Given the description of an element on the screen output the (x, y) to click on. 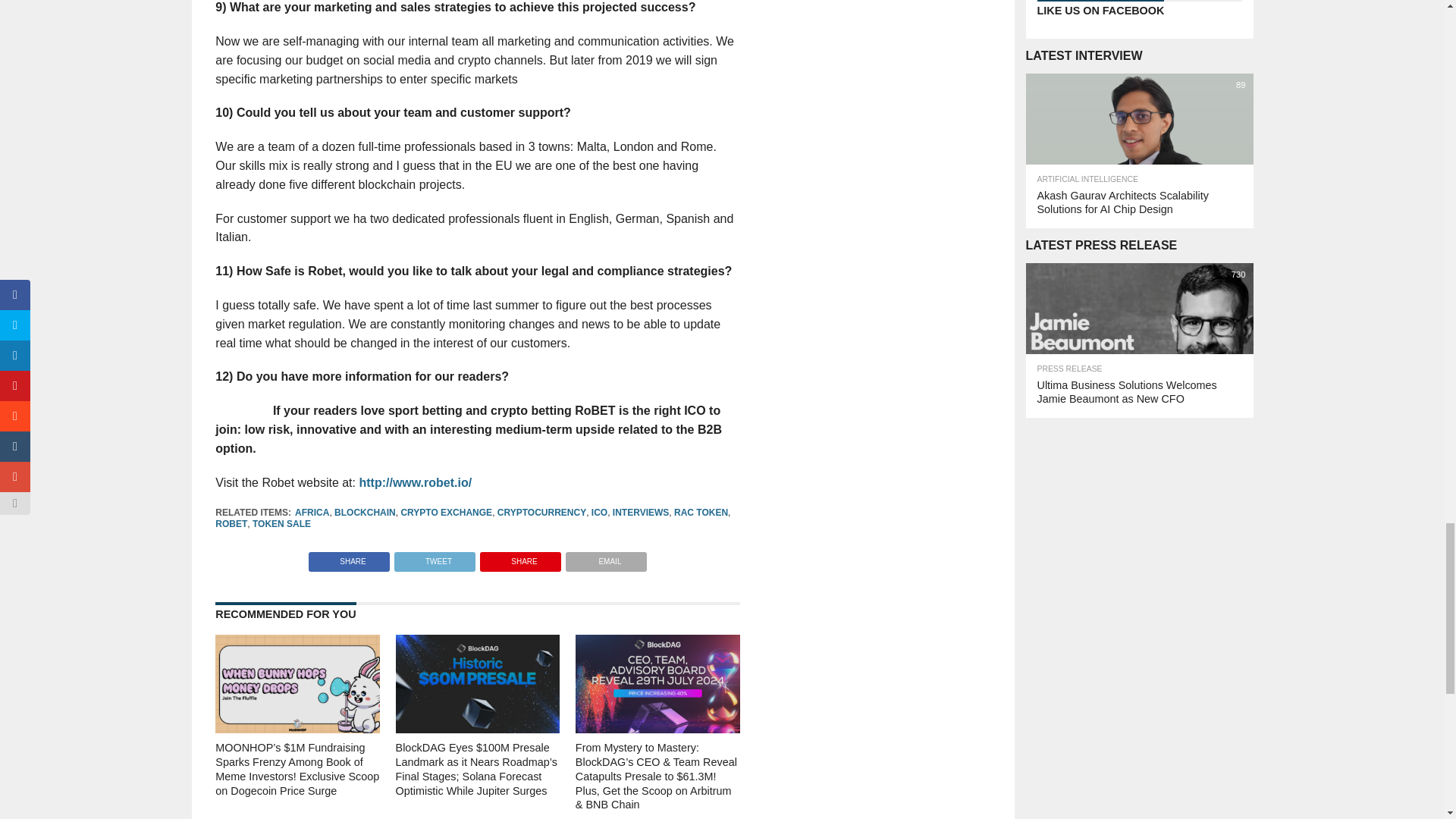
Tweet This Post (434, 557)
Pin This Post (520, 557)
Share on Facebook (349, 557)
